Given the description of an element on the screen output the (x, y) to click on. 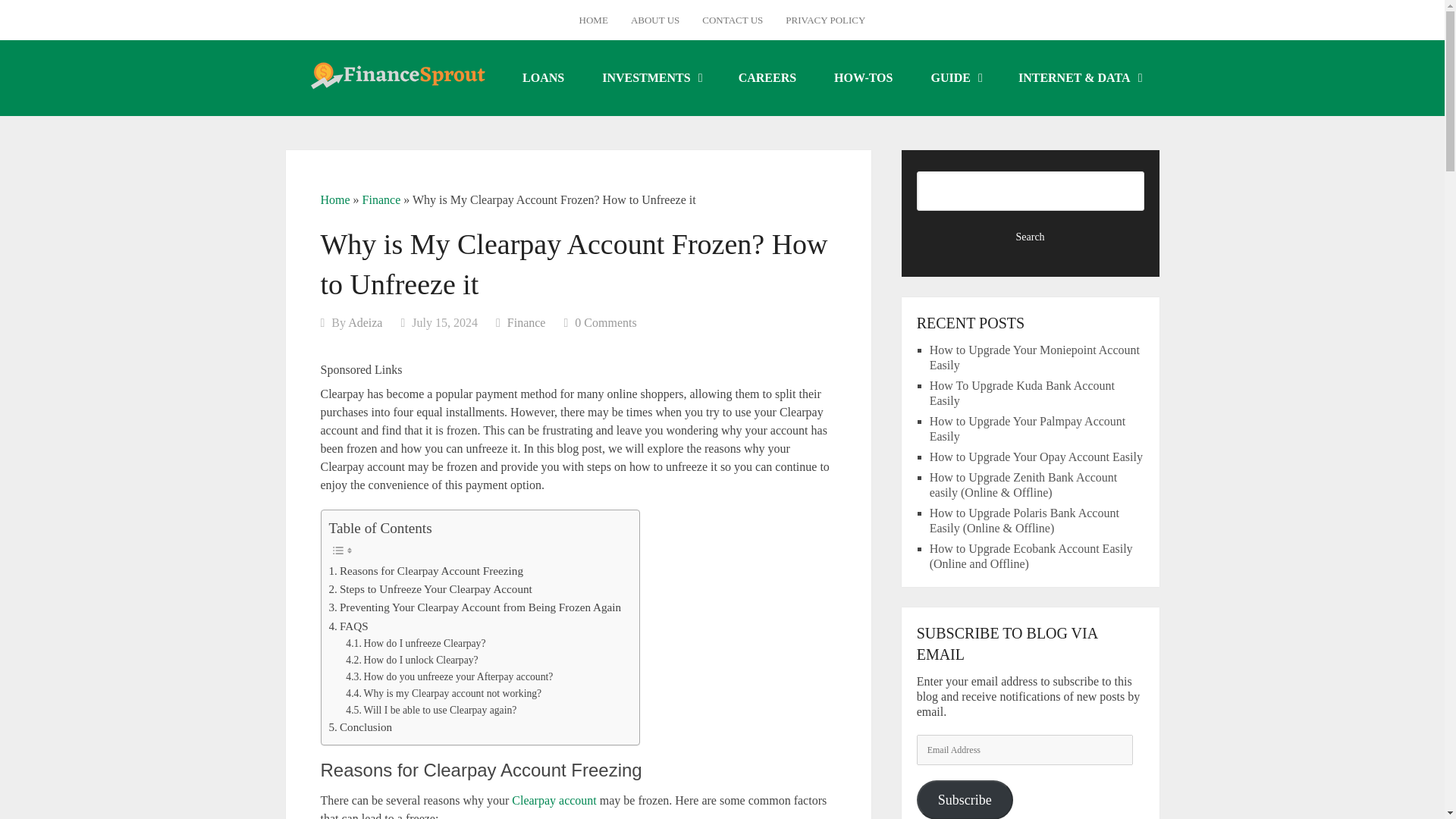
Posts by Adeiza (364, 322)
Finance (526, 322)
How do you unfreeze your Afterpay account? (449, 677)
CONTACT US (732, 20)
Will I be able to use Clearpay again? (431, 710)
INVESTMENTS (651, 77)
Home (334, 198)
Steps to Unfreeze Your Clearpay Account  (432, 588)
Conclusion  (361, 727)
FAQS (348, 626)
Why is my Clearpay account not working? (443, 693)
HOME (593, 20)
PRIVACY POLICY (825, 20)
